Given the description of an element on the screen output the (x, y) to click on. 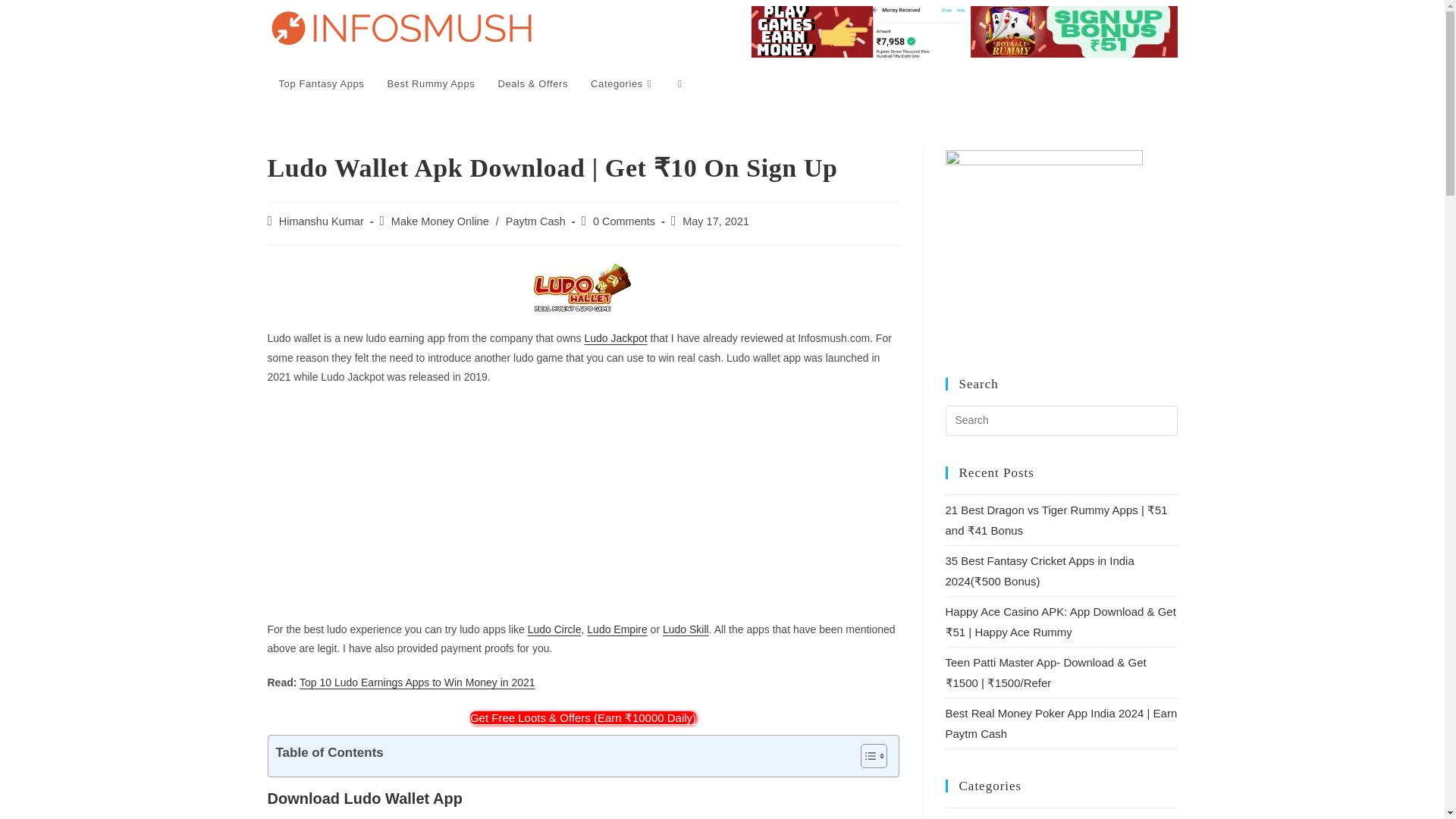
Himanshu Kumar (321, 221)
0 Comments (623, 221)
Ludo Empire (616, 629)
Paytm Cash (535, 221)
Top Fantasy Apps (320, 84)
Best Rummy Apps (430, 84)
Ludo Circle (553, 629)
Make Money Online (440, 221)
Ludo Skill (685, 629)
Categories (622, 84)
